Given the description of an element on the screen output the (x, y) to click on. 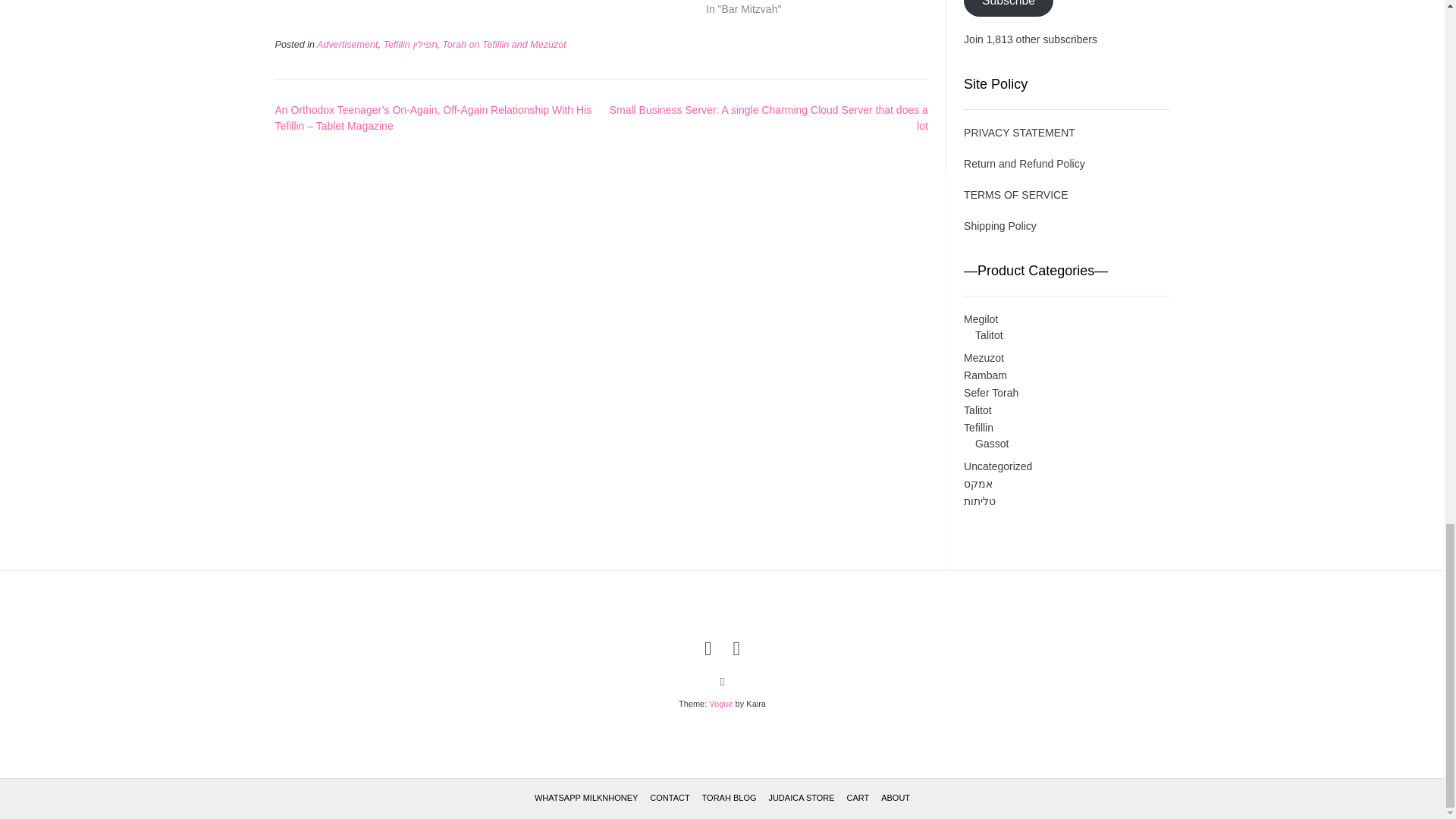
return and refund policy (1023, 163)
TERMS OF SERVICE (1015, 194)
Shipping Policy (999, 225)
PRIVACY STATEMENT (1019, 132)
